Given the description of an element on the screen output the (x, y) to click on. 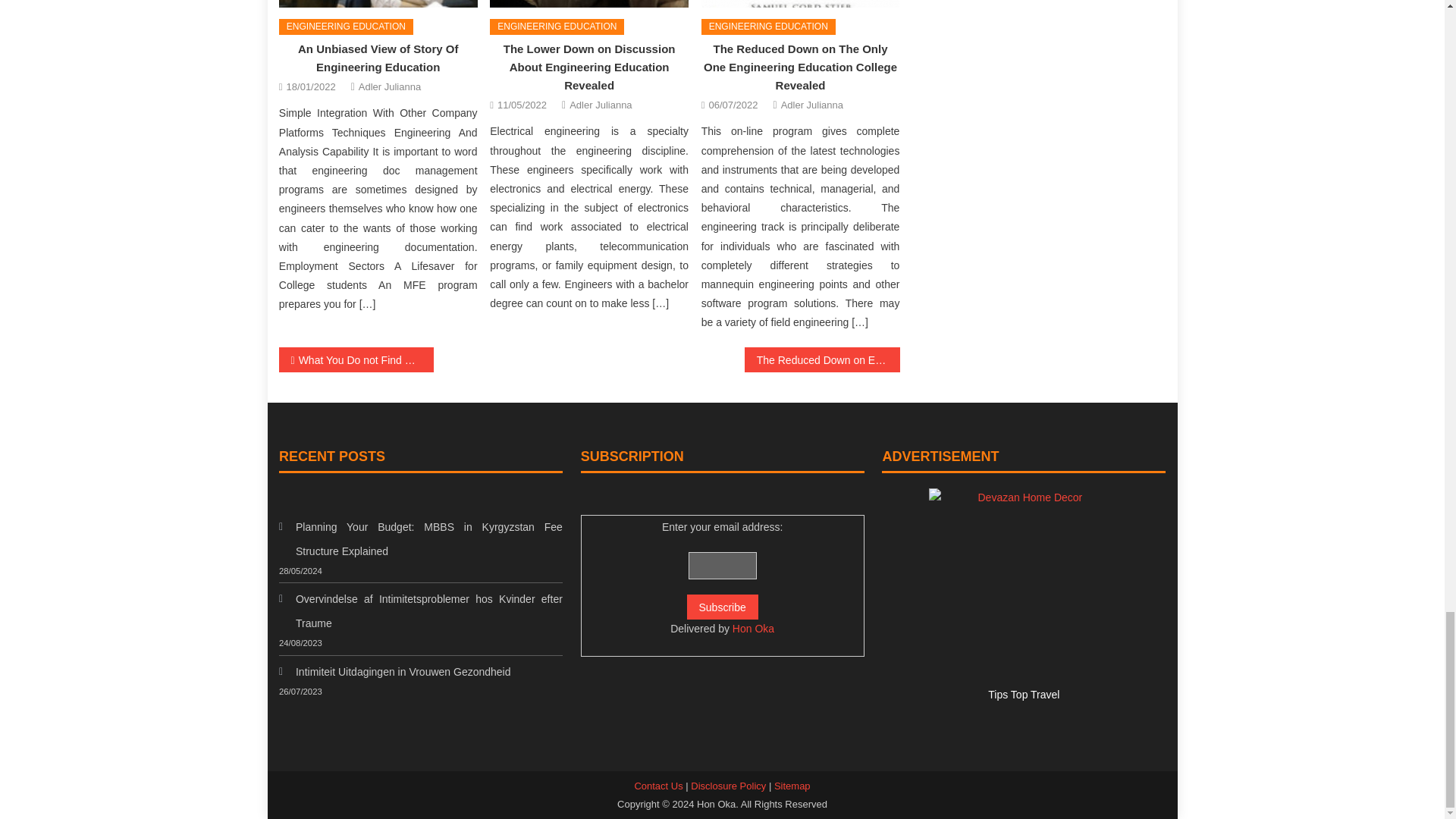
ENGINEERING EDUCATION (346, 27)
Adler Julianna (811, 104)
An Unbiased View of Story Of Engineering Education (378, 57)
Adler Julianna (600, 104)
The Reduced Down on Empower Education System Exposed (821, 359)
Adler Julianna (389, 86)
